Given the description of an element on the screen output the (x, y) to click on. 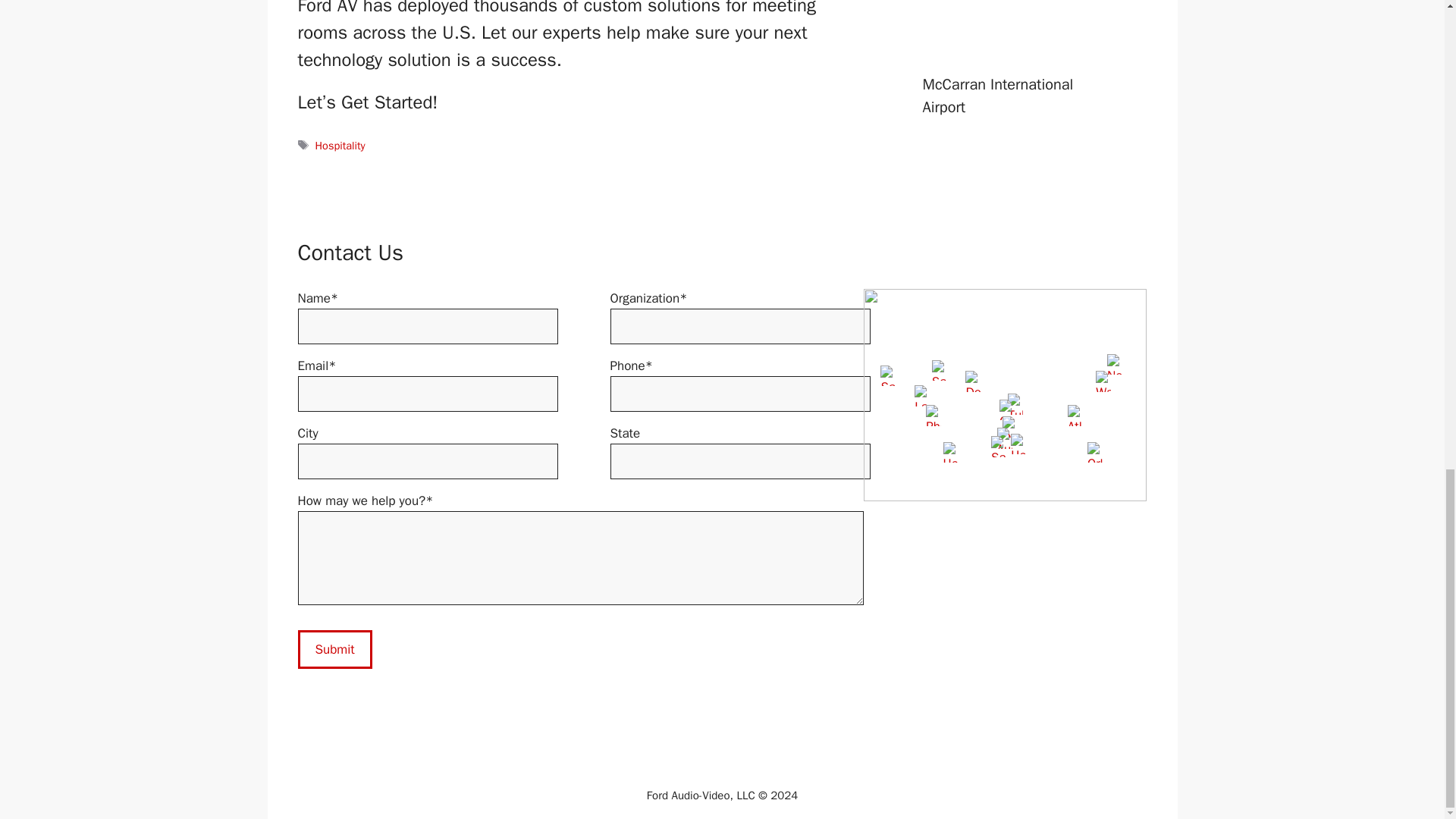
McCarran International Airport (997, 96)
Hospitality (340, 145)
Submit (334, 649)
Submit (334, 649)
